Given the description of an element on the screen output the (x, y) to click on. 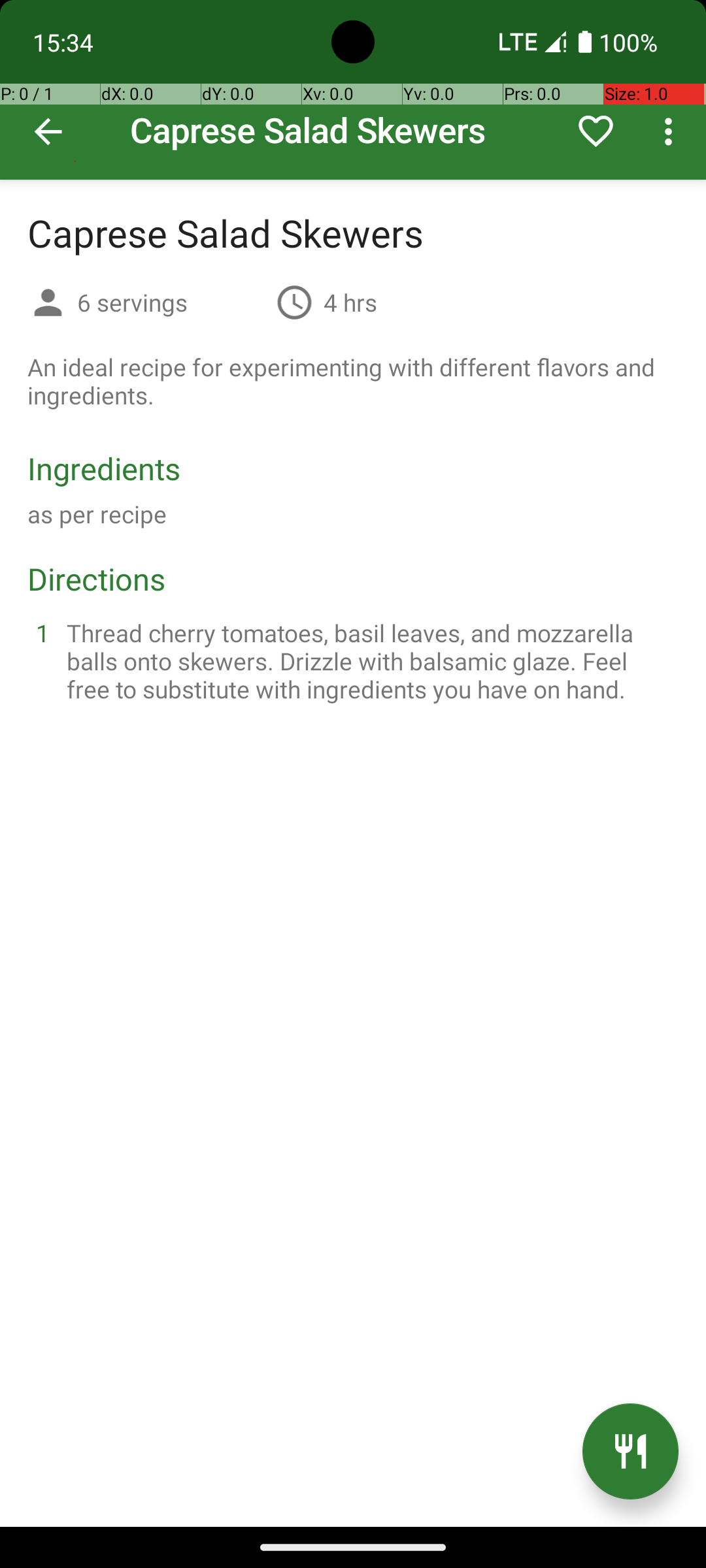
Thread cherry tomatoes, basil leaves, and mozzarella balls onto skewers. Drizzle with balsamic glaze. Feel free to substitute with ingredients you have on hand. Element type: android.widget.TextView (368, 660)
